Given the description of an element on the screen output the (x, y) to click on. 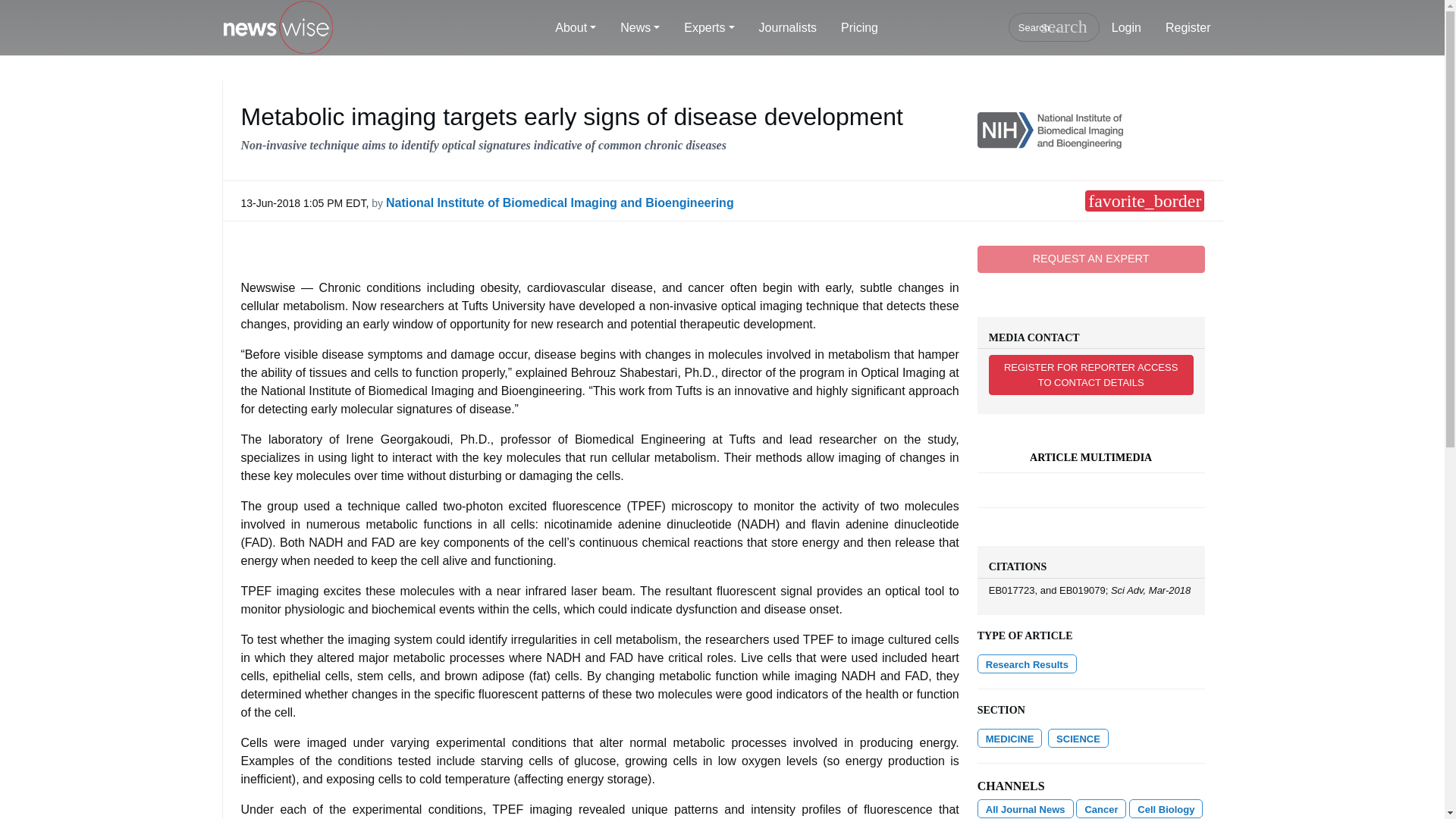
News (639, 27)
Show all articles in this channel (1009, 737)
Show all articles in this channel (1100, 808)
Show all articles in this channel (1025, 808)
Research Results (1026, 663)
About (575, 27)
Add to Favorites (1144, 200)
Newswise logo (277, 28)
Show all articles in this channel (1078, 737)
